Given the description of an element on the screen output the (x, y) to click on. 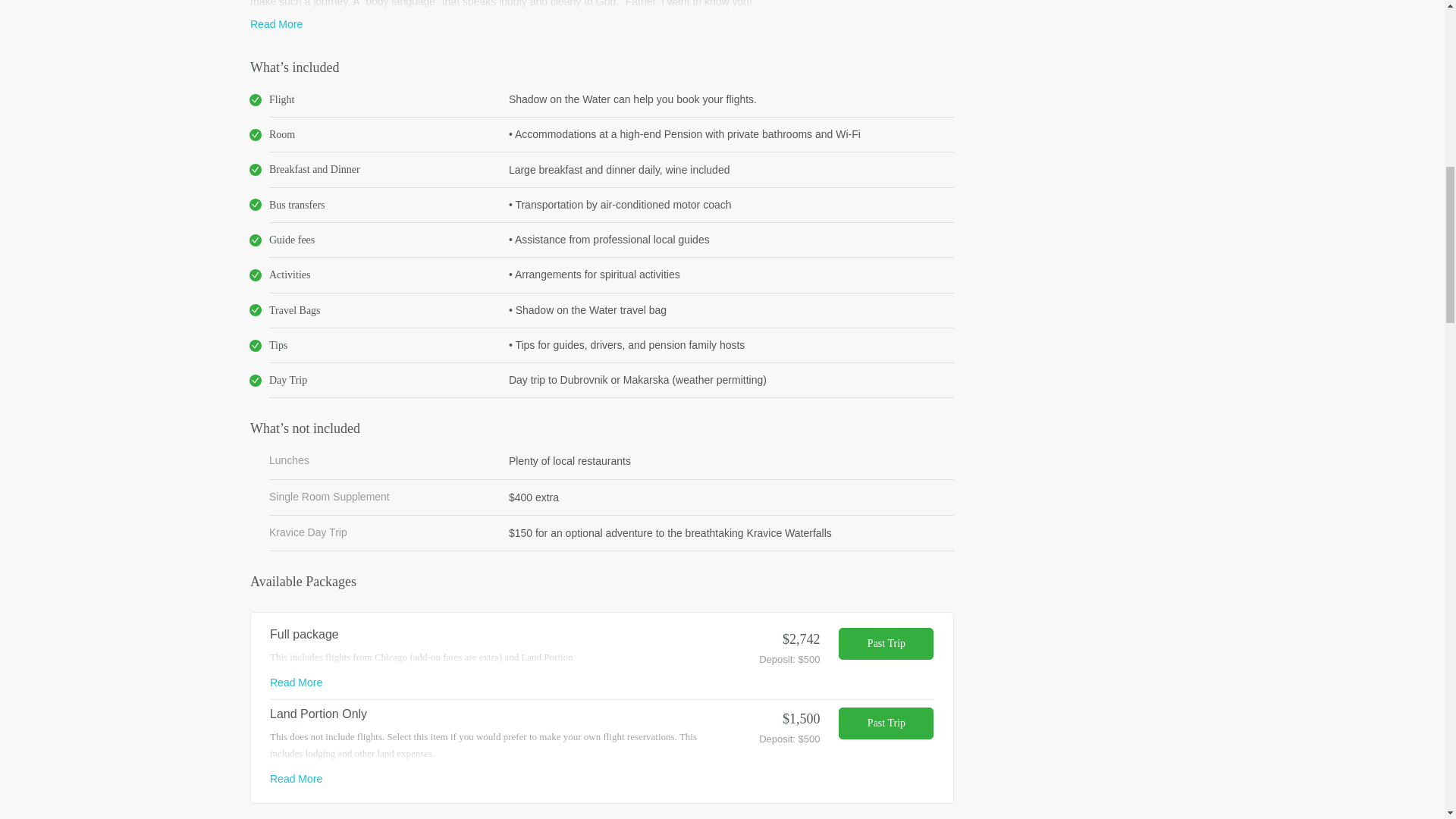
Past Trip (885, 644)
Read More (276, 23)
Read More (295, 778)
Read More (295, 682)
Past Trip (885, 723)
